Given the description of an element on the screen output the (x, y) to click on. 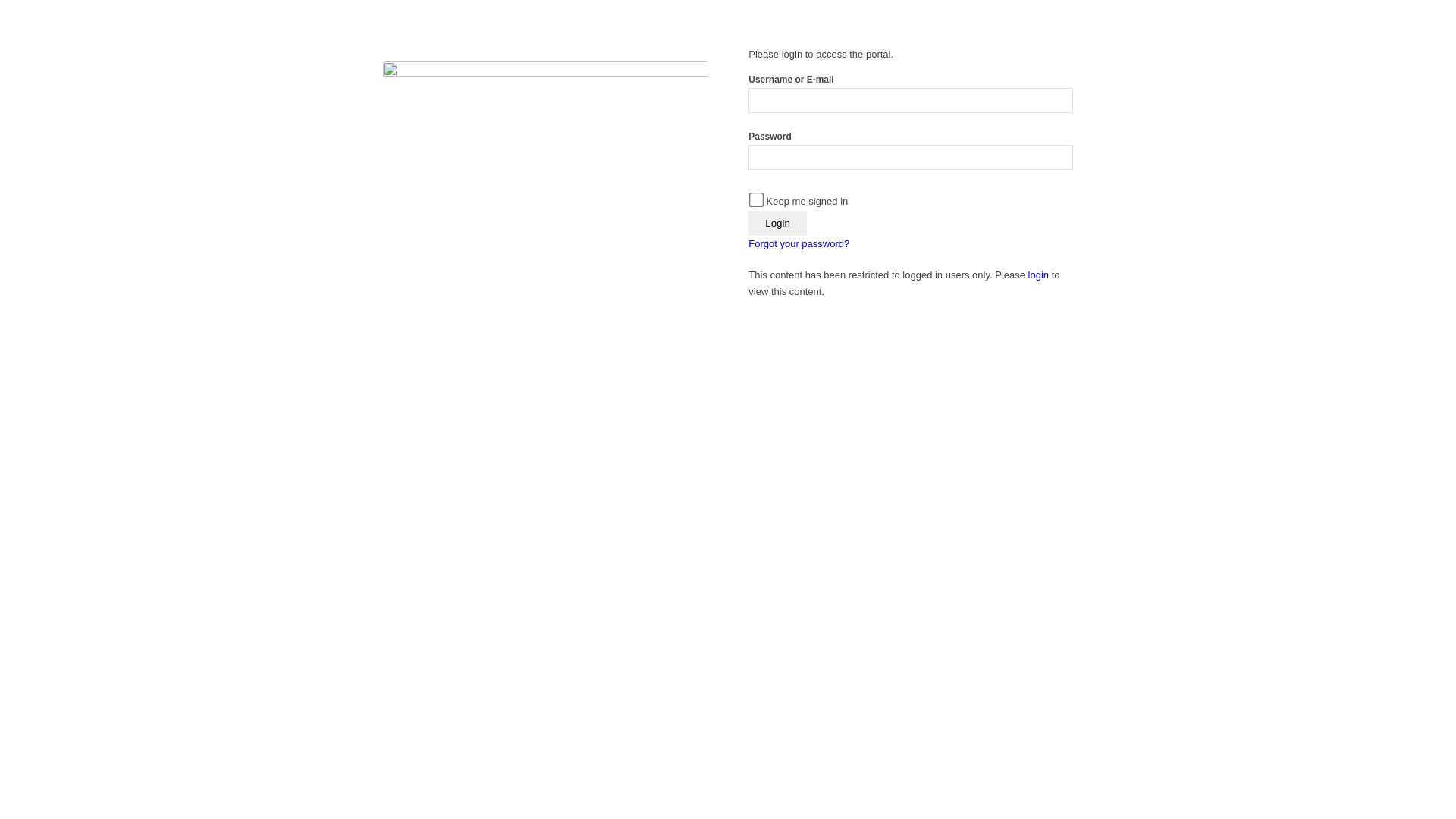
ACT-ppp-Logo Element type: hover (544, 168)
login Element type: text (1038, 274)
Forgot your password? Element type: text (798, 243)
Login Element type: text (777, 222)
